Given the description of an element on the screen output the (x, y) to click on. 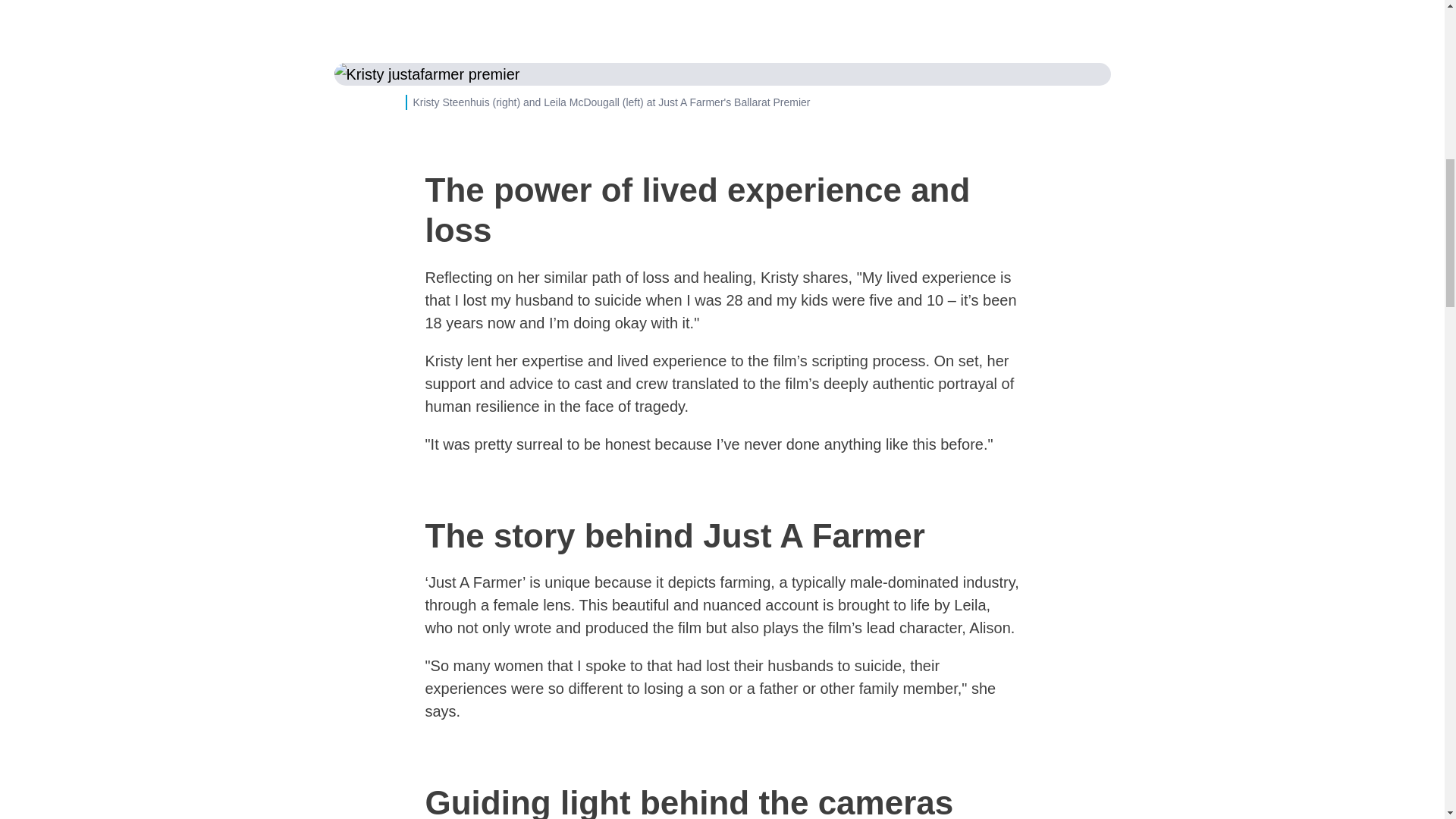
Kristy justafarmer premier (721, 74)
